Given the description of an element on the screen output the (x, y) to click on. 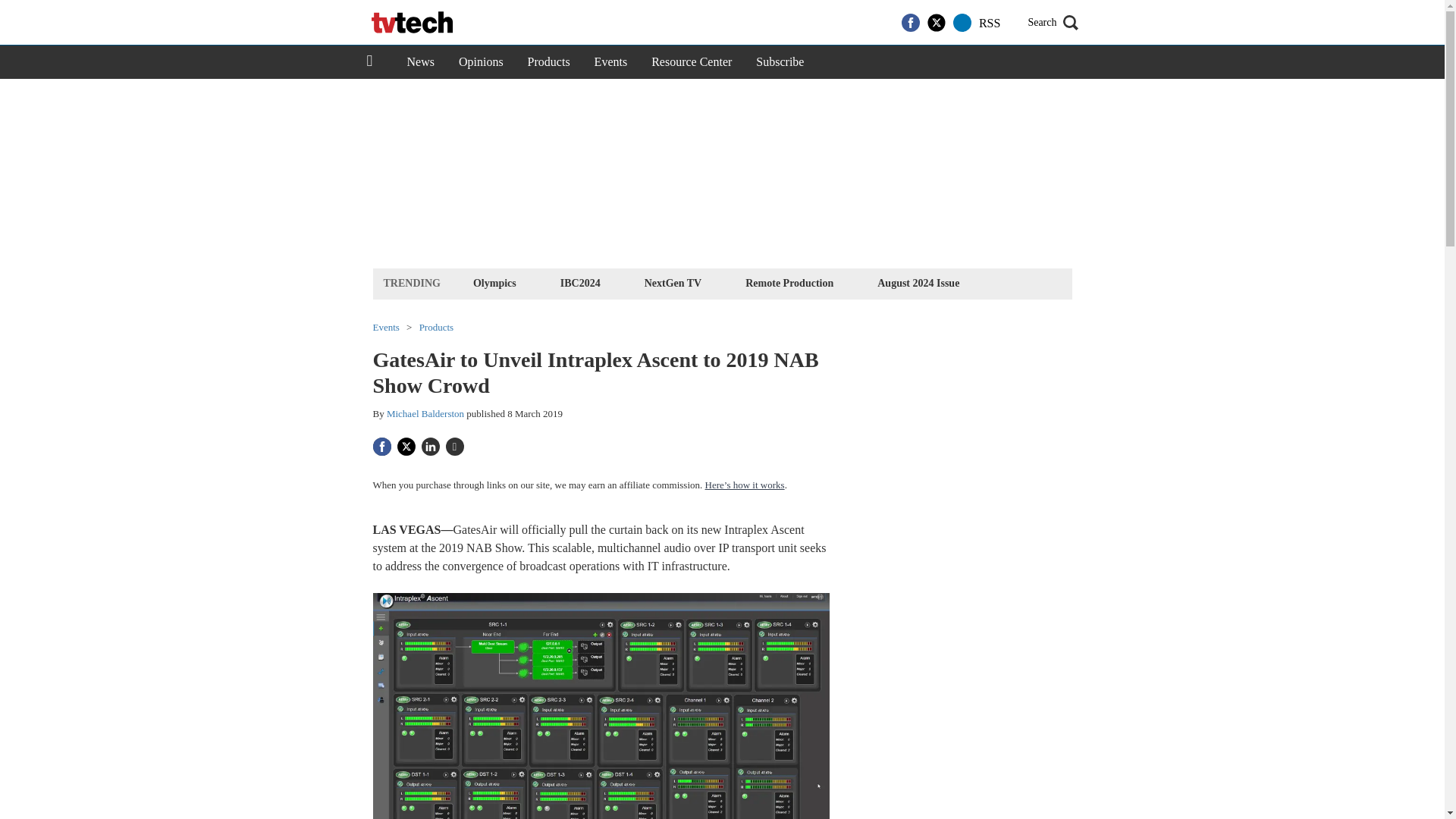
RSS (989, 22)
Michael Balderston (425, 413)
Products (436, 327)
IBC2024 (579, 282)
NextGen TV (673, 282)
Resource Center (691, 61)
August 2024 Issue (917, 282)
Olympics (494, 282)
Events (611, 61)
Products (548, 61)
